Given the description of an element on the screen output the (x, y) to click on. 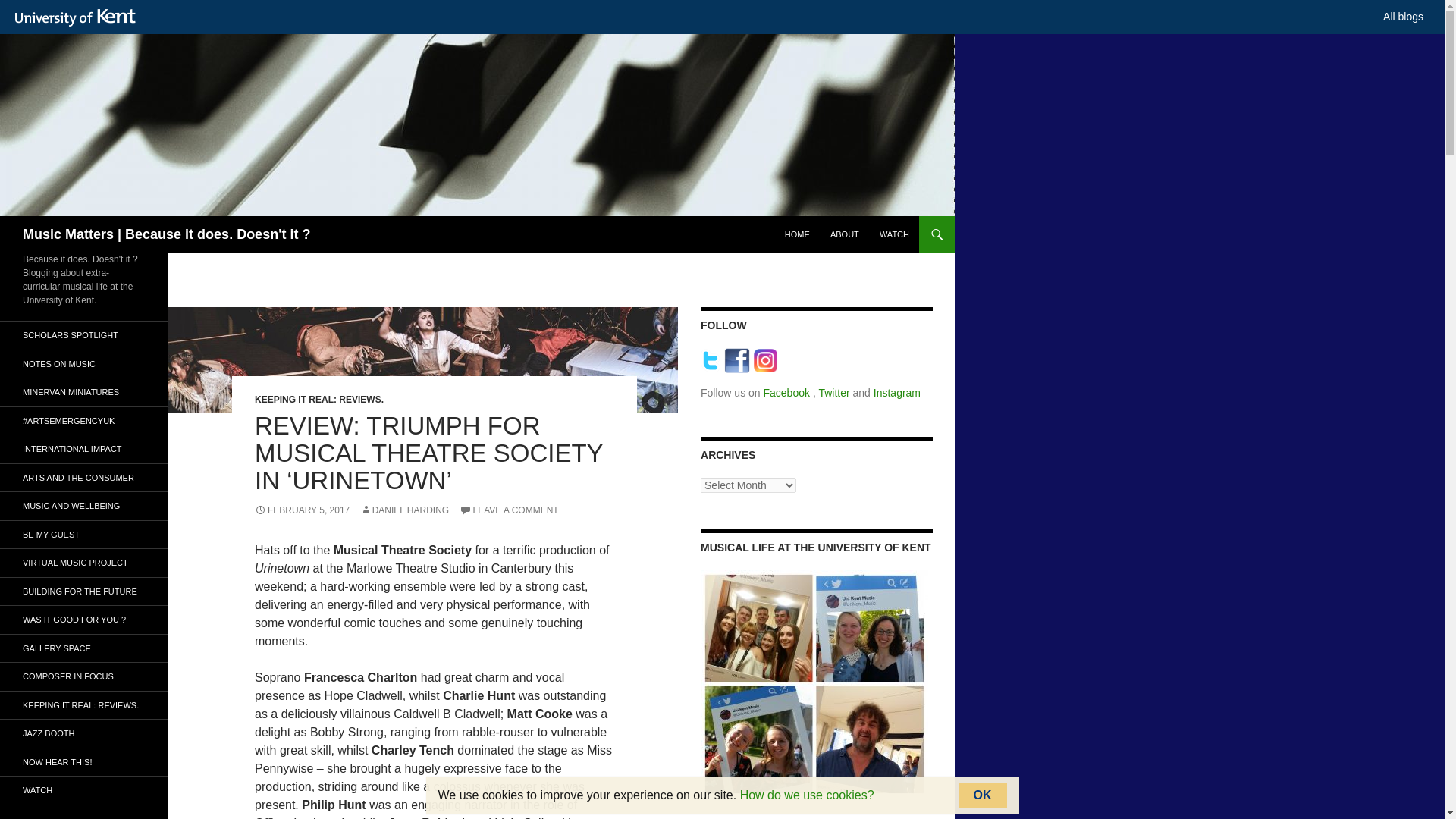
ABOUT (844, 234)
All blogs (1403, 16)
WATCH (894, 234)
HOME (797, 234)
Instagram (896, 392)
DANIEL HARDING (404, 510)
What does it mean for us ? (84, 478)
LEAVE A COMMENT (509, 510)
Reviews of concerts and events (84, 705)
FEBRUARY 5, 2017 (301, 510)
University of Kent website homepage (78, 18)
How do we use cookies? (807, 795)
OK (982, 795)
